Given the description of an element on the screen output the (x, y) to click on. 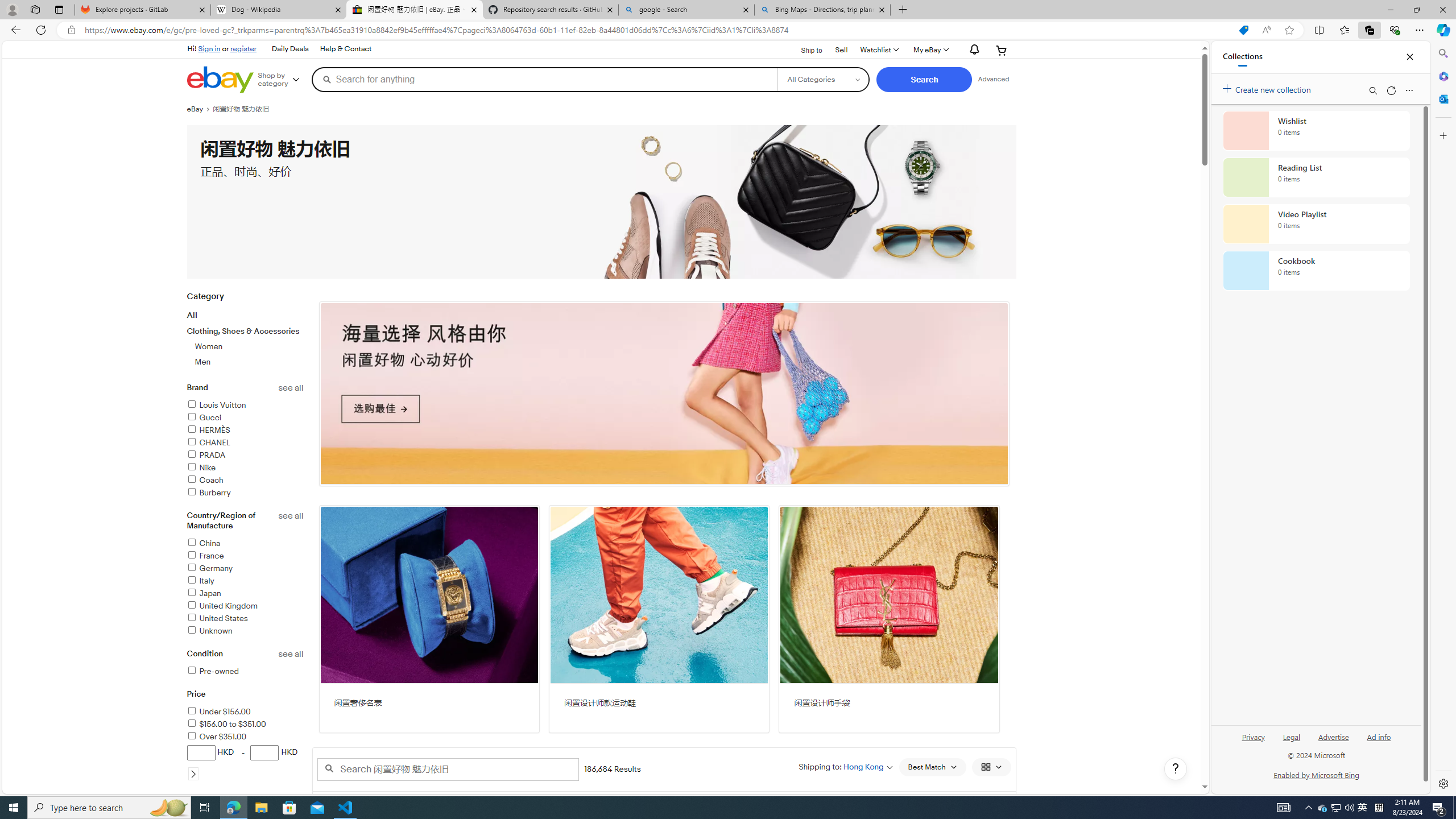
$156.00 to $351.00 (245, 724)
Daily Deals (290, 49)
Sell (841, 49)
Ship to (804, 50)
Under $156.00 (218, 711)
My eBay (930, 49)
Nike (245, 467)
Pre-owned (245, 671)
CategoryAllClothing, Shoes & AccessoriesWomenMen (245, 335)
